Given the description of an element on the screen output the (x, y) to click on. 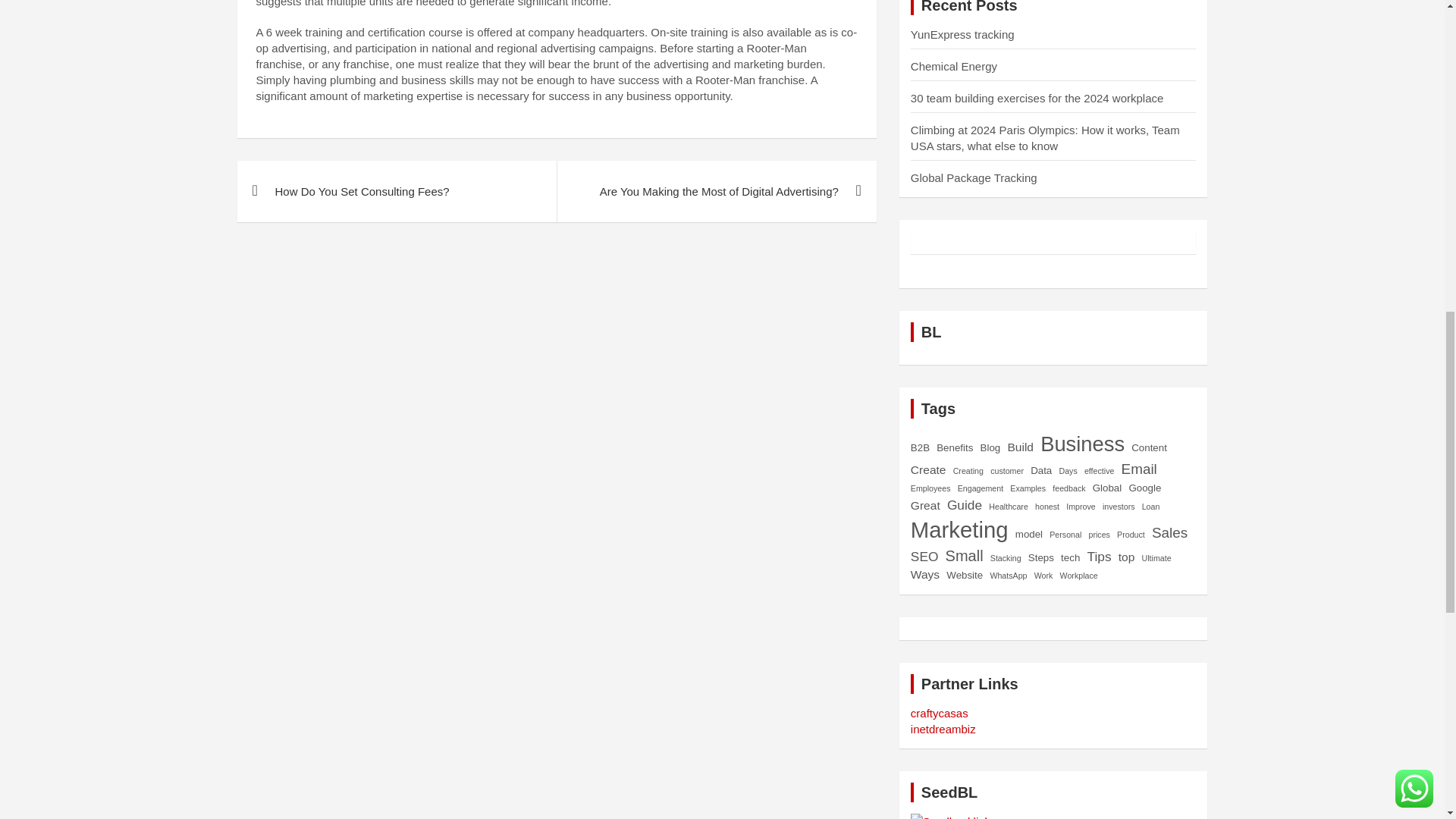
How Do You Set Consulting Fees? (395, 190)
Seedbacklink (950, 816)
Chemical Energy (954, 65)
YunExpress tracking (962, 33)
Are You Making the Most of Digital Advertising? (716, 190)
